Given the description of an element on the screen output the (x, y) to click on. 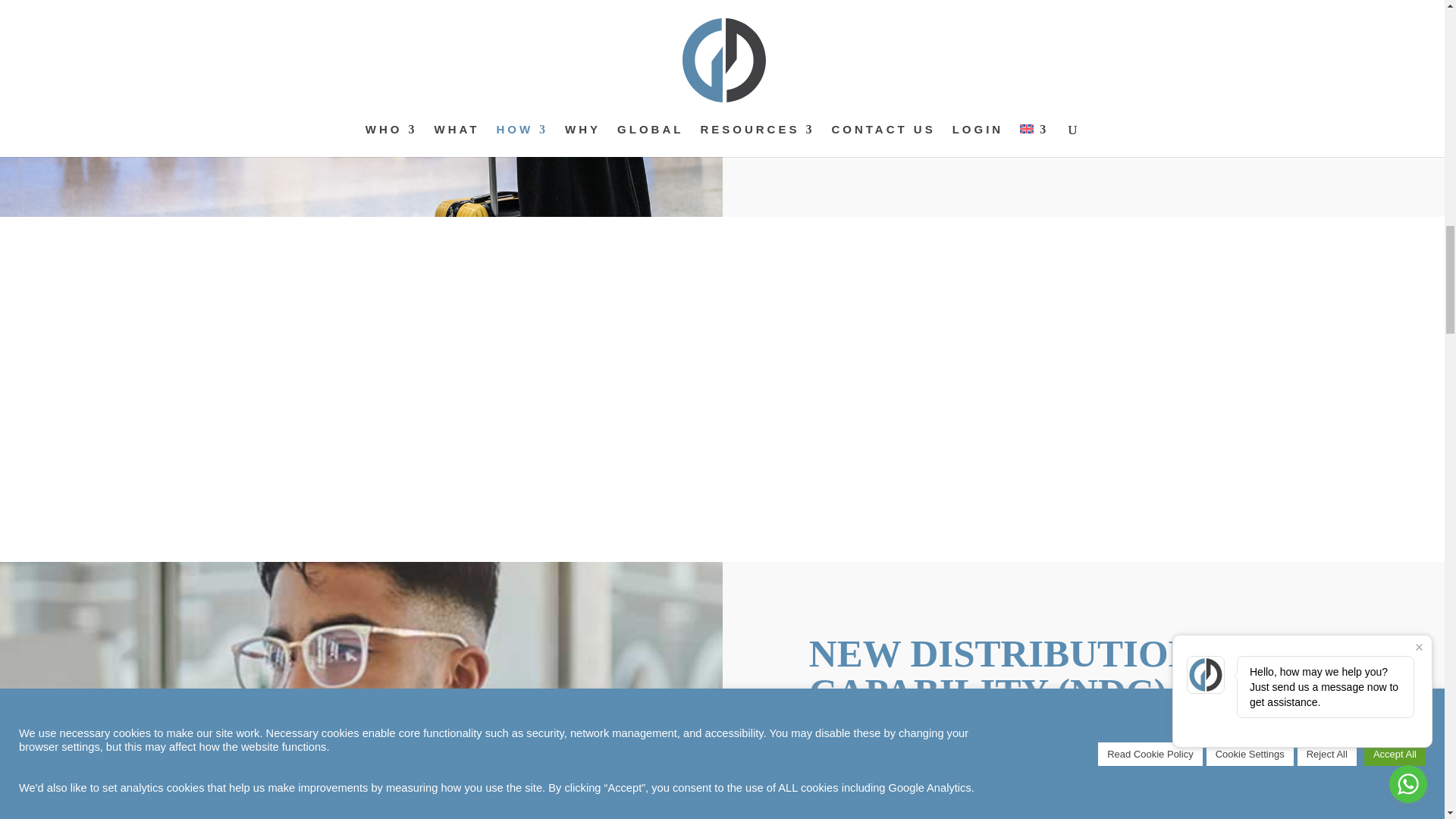
YourTrip (954, 29)
